Given the description of an element on the screen output the (x, y) to click on. 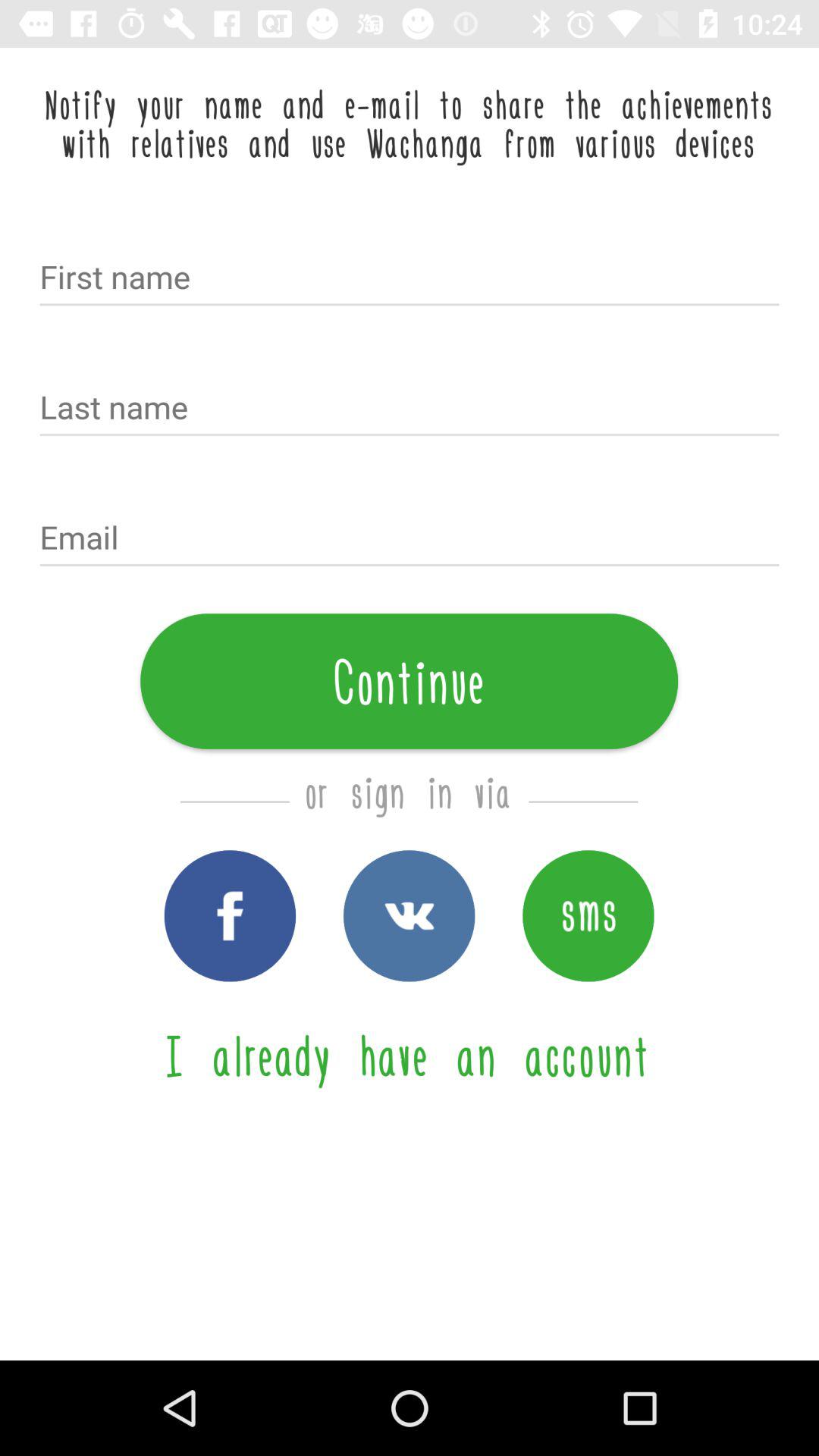
sign in via sms (588, 915)
